Given the description of an element on the screen output the (x, y) to click on. 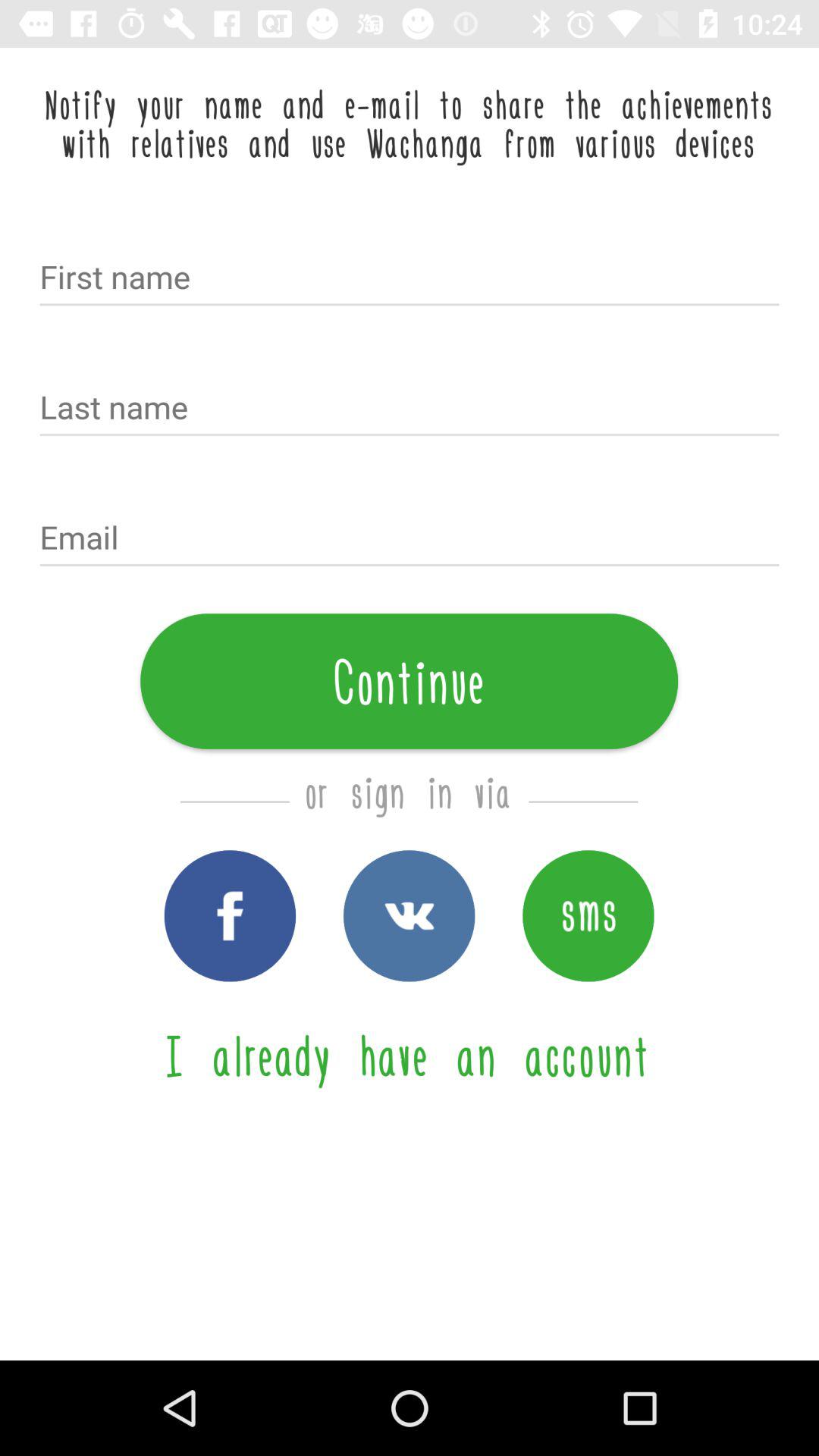
sign in via sms (588, 915)
